Given the description of an element on the screen output the (x, y) to click on. 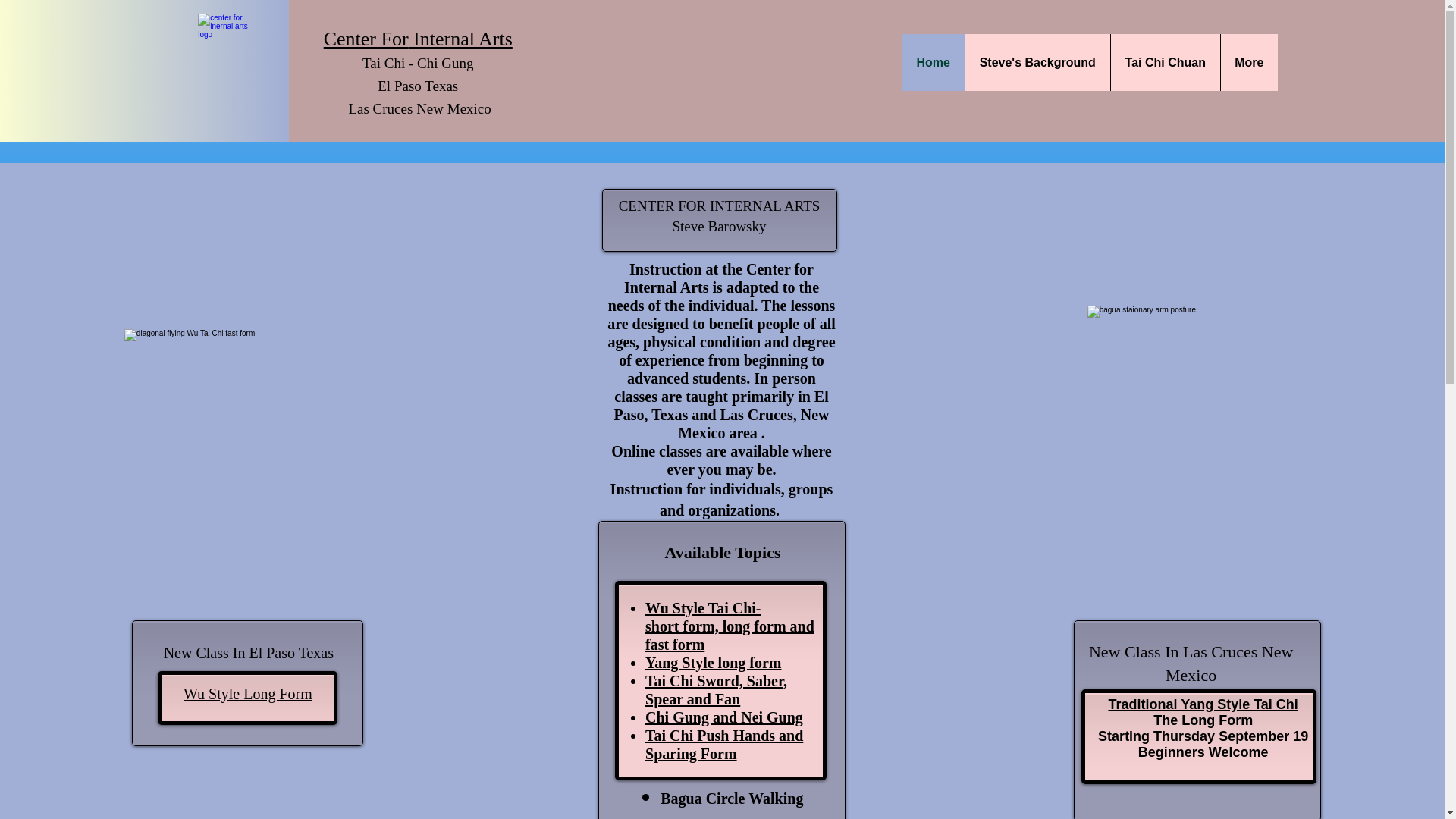
Traditional Yang Style Tai Chi (1202, 703)
Tai Chi Push Hands and Sparing Form (724, 744)
Beginners Welcome (1203, 752)
tai chi chi gung  El Paso, Las cruces.jpg (239, 427)
The Long Form (1202, 720)
Wu Style Tai Chi- short form, long form and fast form (729, 625)
Yang Style long form (712, 662)
Steve's Background (1036, 62)
Home (932, 62)
Chi Gung and Nei Gung (724, 717)
